Given the description of an element on the screen output the (x, y) to click on. 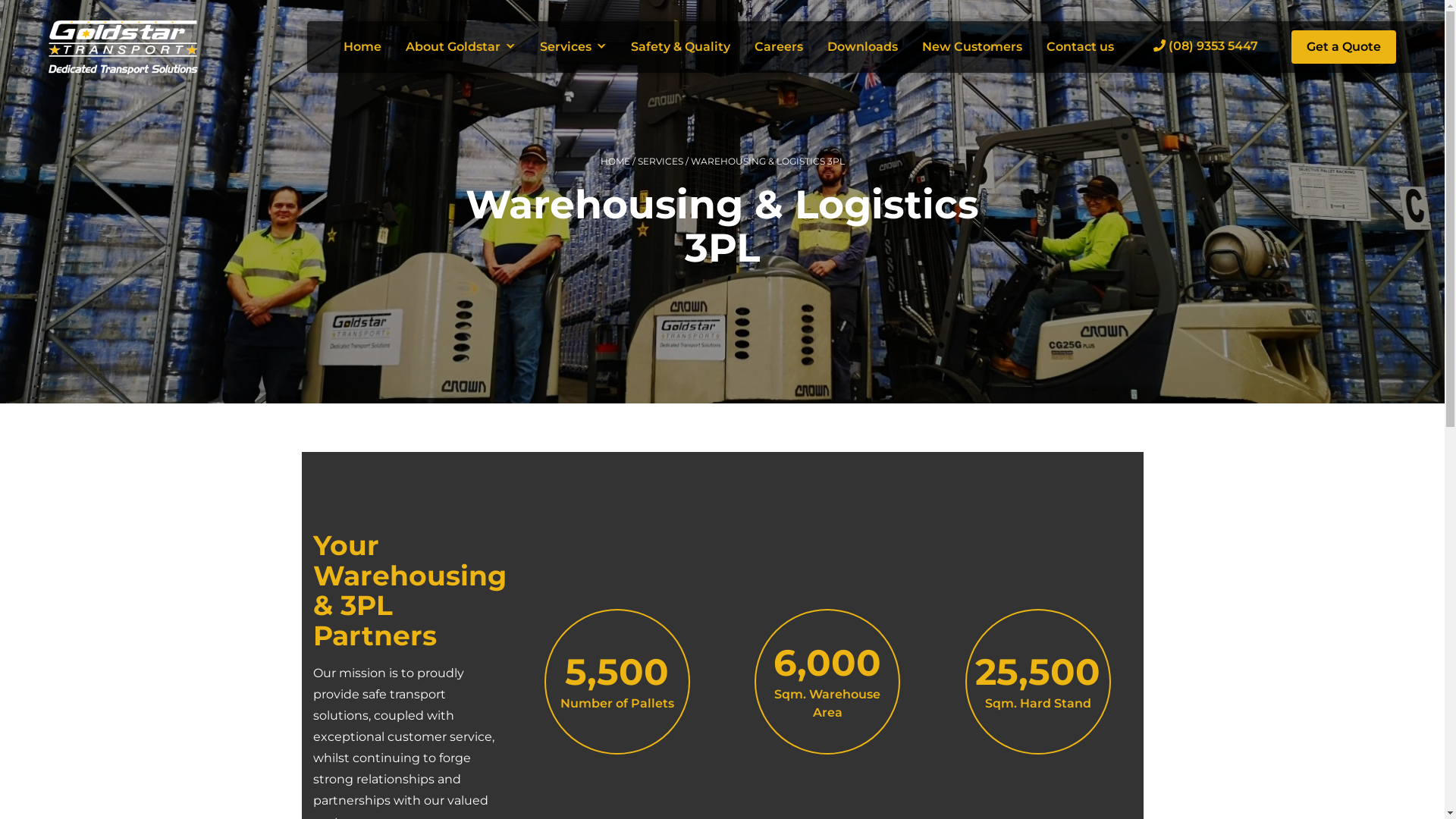
Safety & Quality Element type: text (680, 46)
About Goldstar Element type: text (460, 46)
Careers Element type: text (778, 46)
New Customers Element type: text (972, 46)
HOME Element type: text (615, 160)
Contact us Element type: text (1080, 46)
Home Element type: text (362, 46)
(08) 9353 5447 Element type: text (1202, 45)
SERVICES Element type: text (659, 160)
Downloads Element type: text (862, 46)
Services Element type: text (572, 46)
Get a Quote Element type: text (1343, 46)
